Given the description of an element on the screen output the (x, y) to click on. 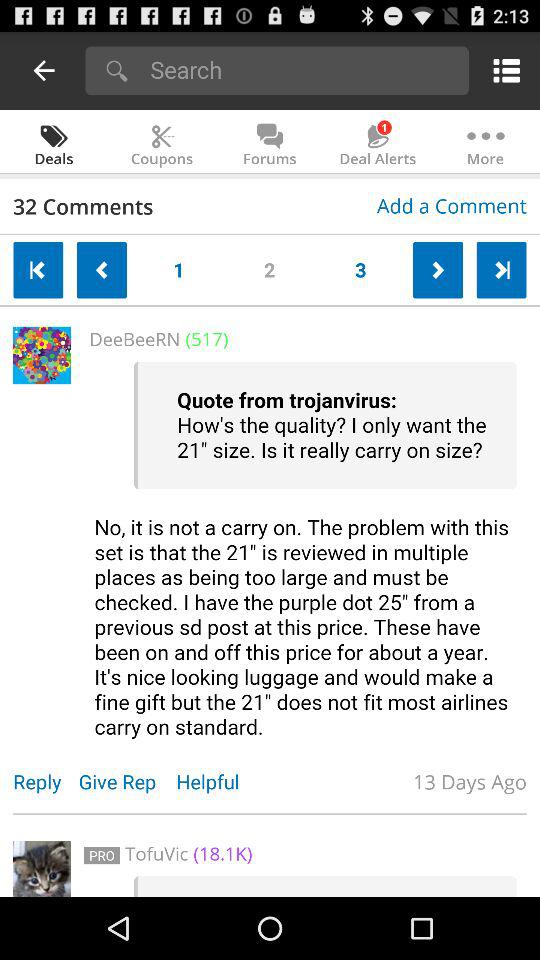
select the icon above more icon (502, 70)
